Given the description of an element on the screen output the (x, y) to click on. 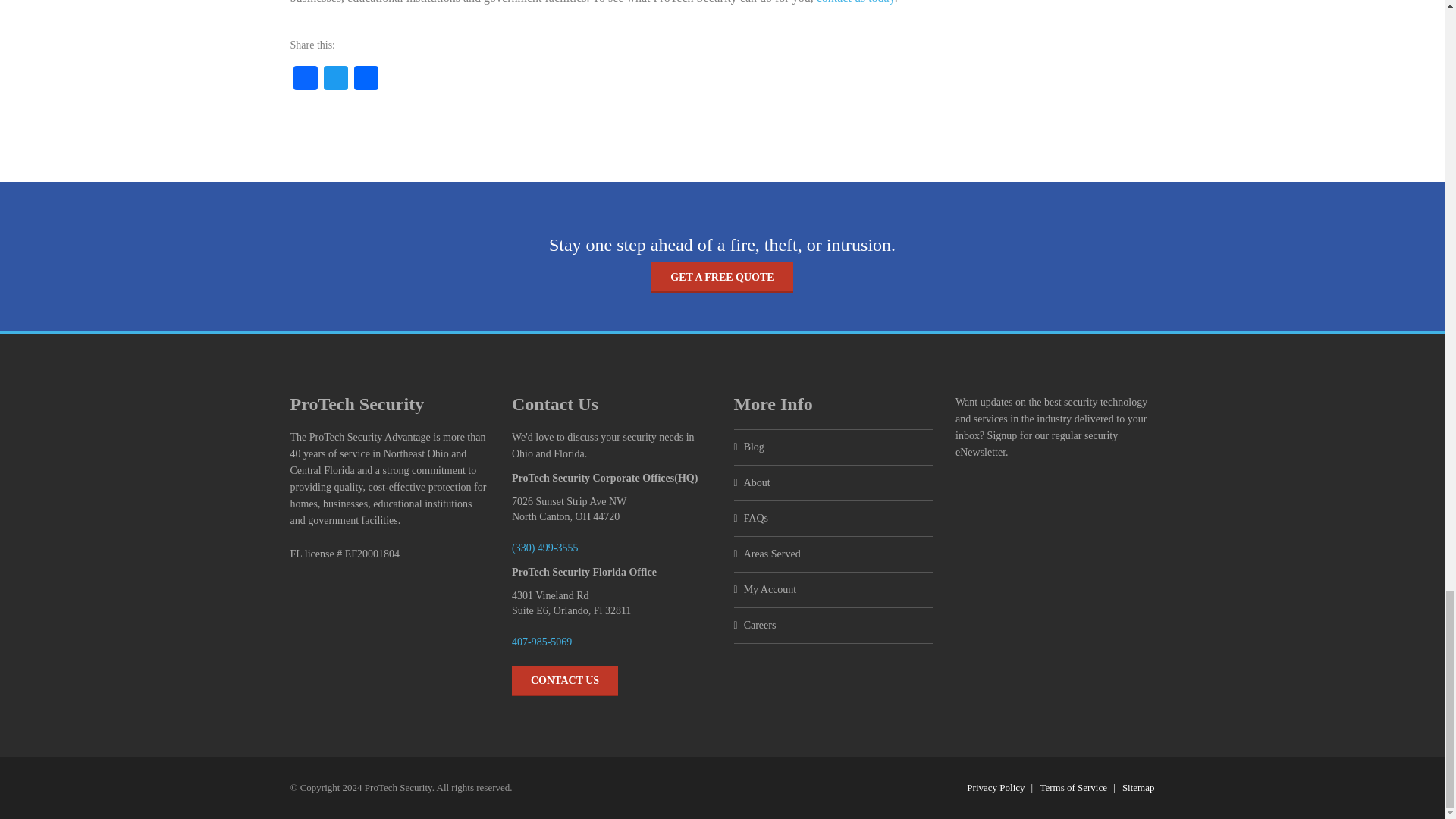
Twitter (335, 80)
Facebook (304, 80)
Form 1 (1054, 572)
